Given the description of an element on the screen output the (x, y) to click on. 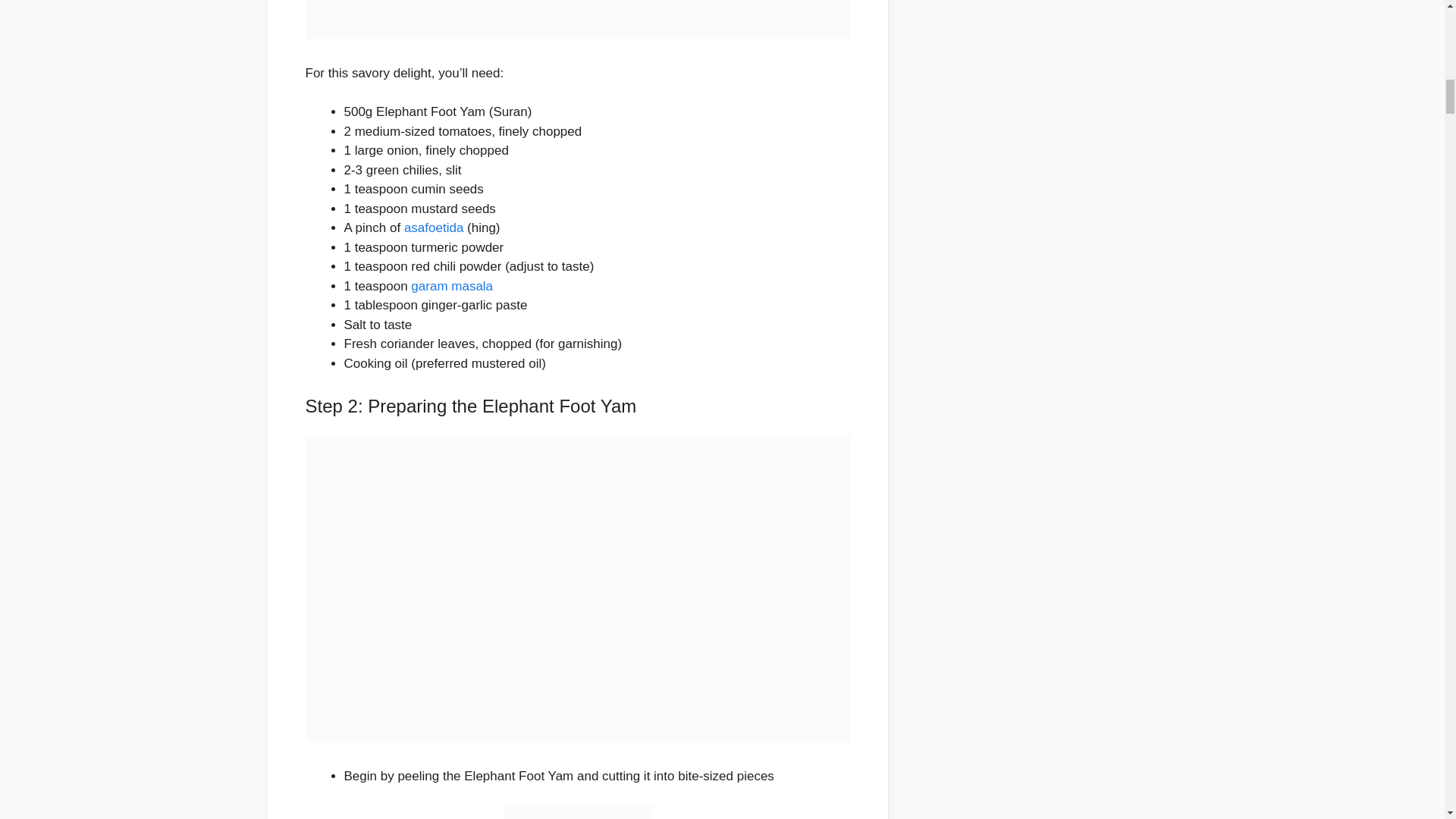
garam masala (451, 286)
asafoetida (433, 227)
Gather Your Ingredients (576, 19)
